Given the description of an element on the screen output the (x, y) to click on. 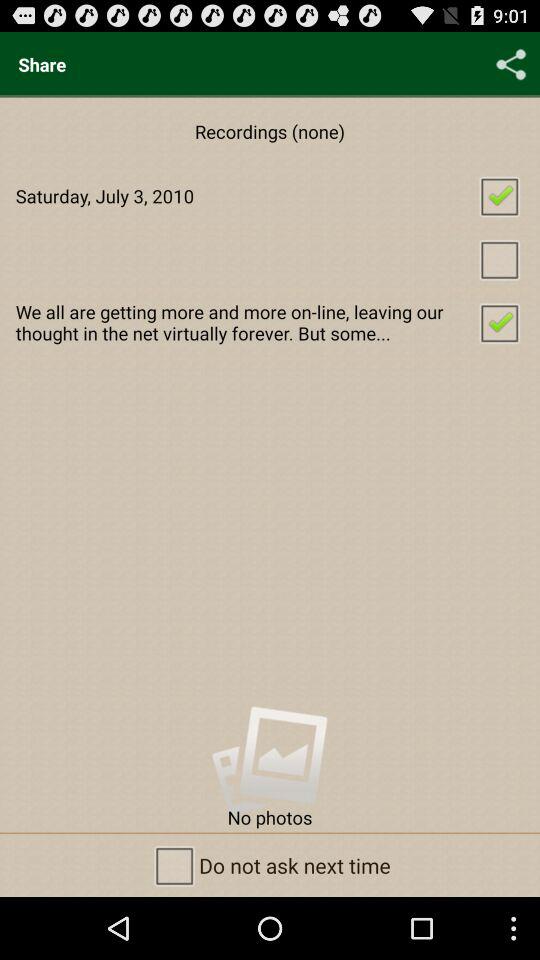
switch share (511, 64)
